Given the description of an element on the screen output the (x, y) to click on. 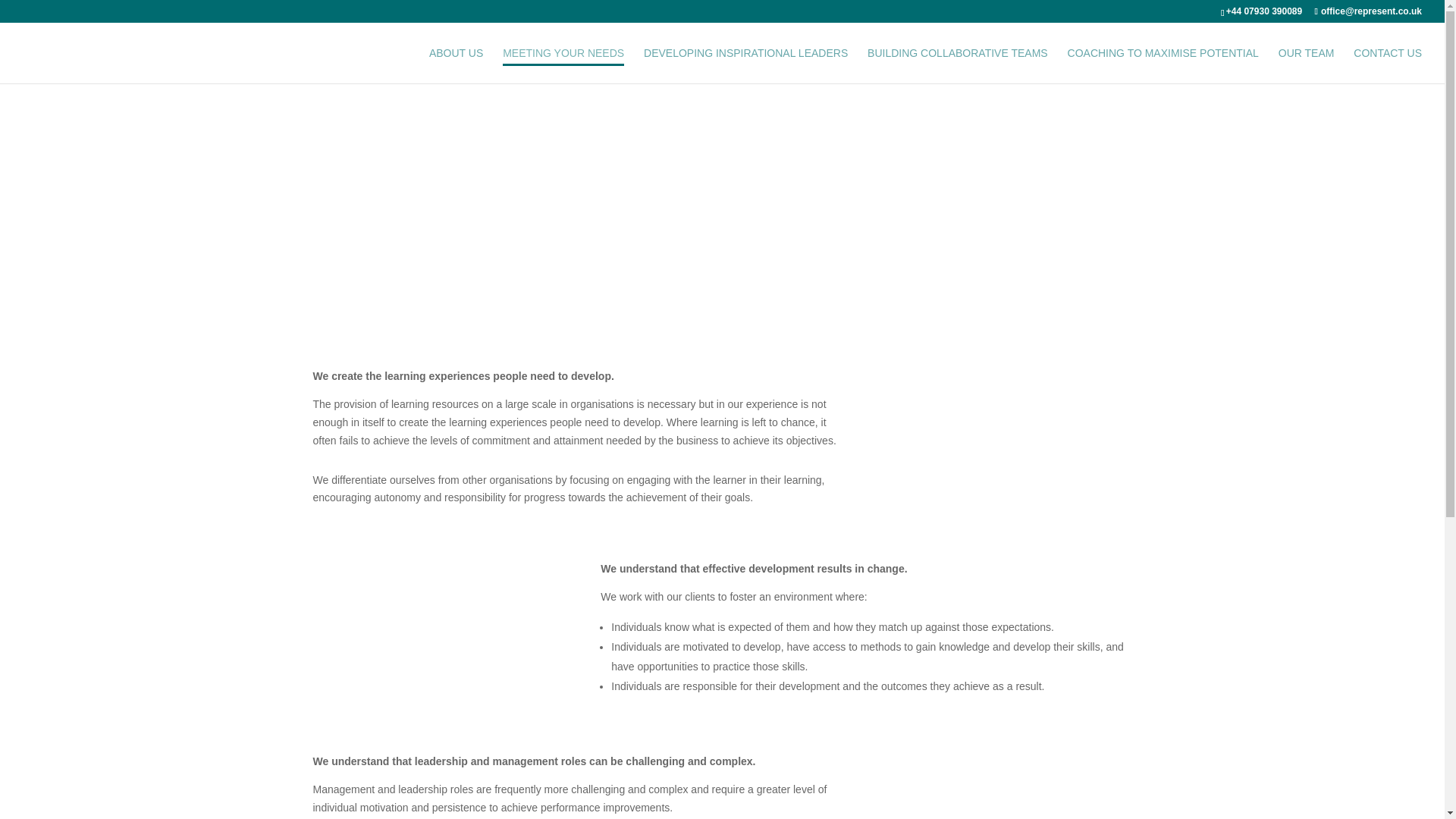
OUR TEAM (1306, 65)
CONTACT US (1388, 65)
DEVELOPING INSPIRATIONAL LEADERS (745, 65)
MEETING YOUR NEEDS (563, 65)
ABOUT US (456, 65)
COACHING TO MAXIMISE POTENTIAL (1163, 65)
BUILDING COLLABORATIVE TEAMS (957, 65)
